Given the description of an element on the screen output the (x, y) to click on. 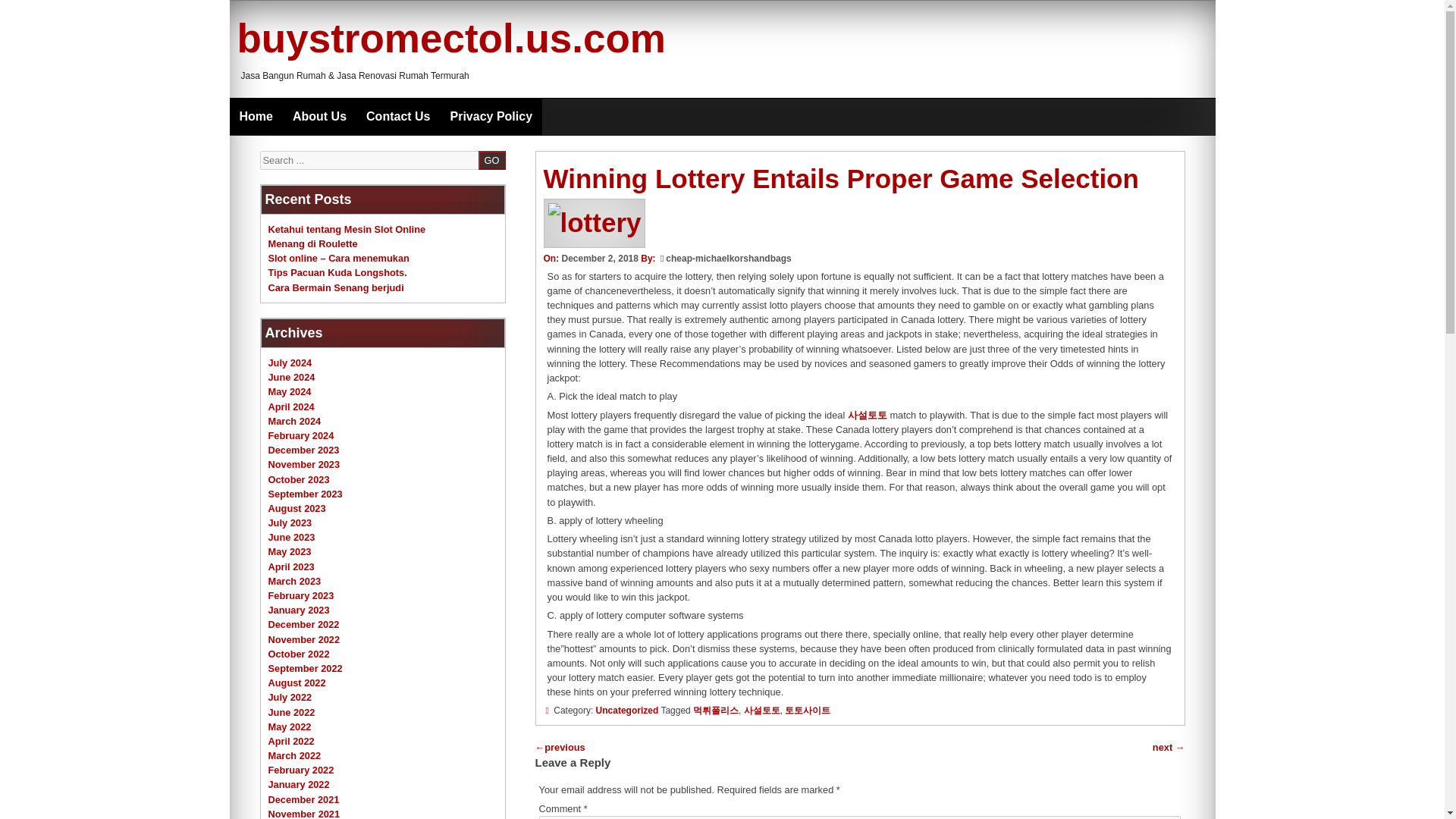
October 2023 (298, 478)
December 2, 2018 (598, 258)
cheap-michaelkorshandbags (727, 258)
GO (492, 158)
Uncategorized (627, 710)
Tips Pacuan Kuda Longshots. (337, 272)
GO (492, 158)
June 2024 (291, 377)
May 2023 (289, 551)
April 2024 (290, 406)
Privacy Policy (492, 116)
August 2023 (296, 508)
September 2023 (304, 493)
June 2023 (291, 536)
GO (492, 158)
